Given the description of an element on the screen output the (x, y) to click on. 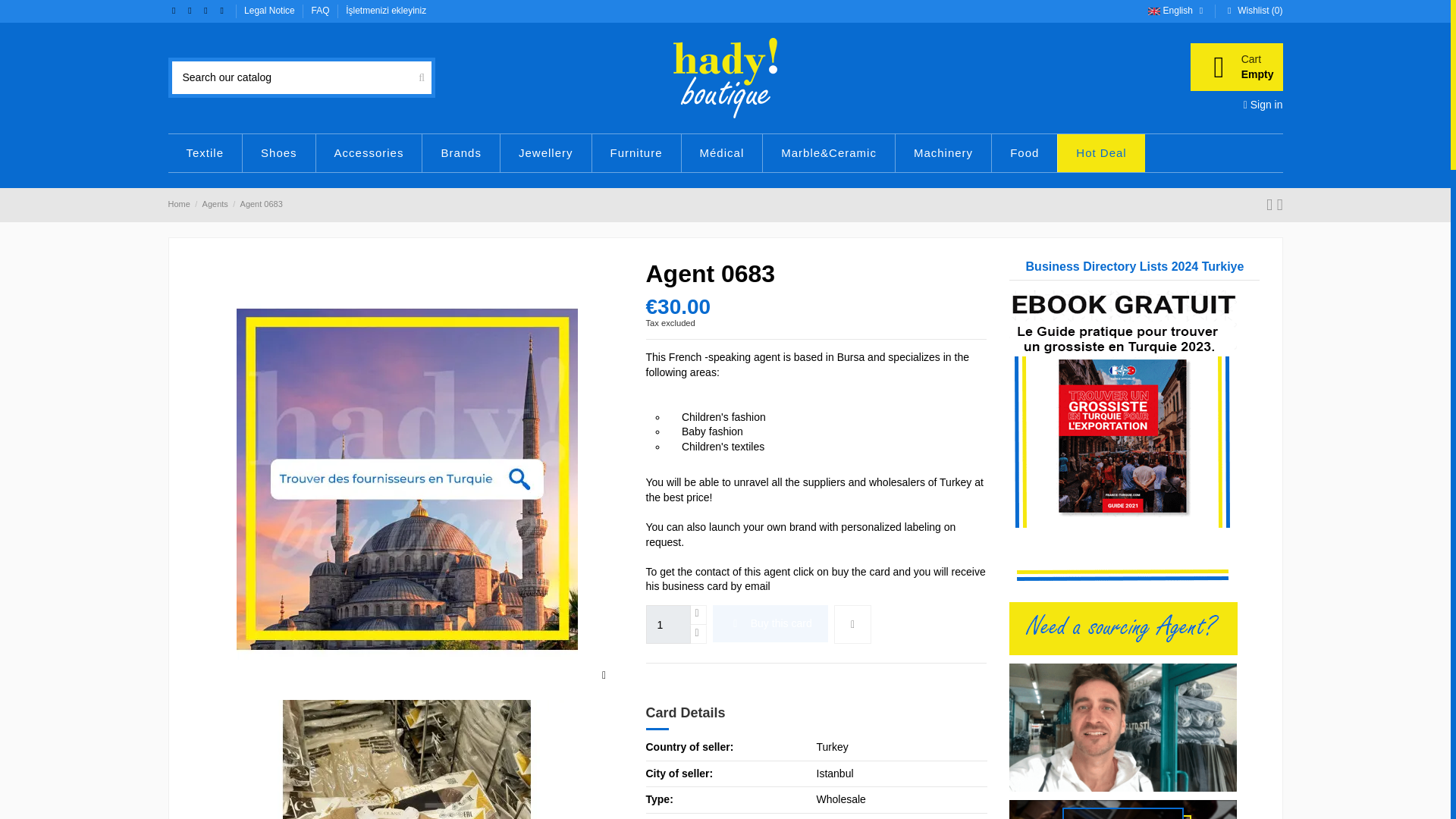
FAQ (321, 9)
Sign in (1262, 104)
Textile (205, 152)
Log in to your customer account (1262, 104)
1 (668, 624)
English (1177, 9)
Textile (205, 152)
Legal Notice (1236, 66)
Legal Notice (270, 9)
